Given the description of an element on the screen output the (x, y) to click on. 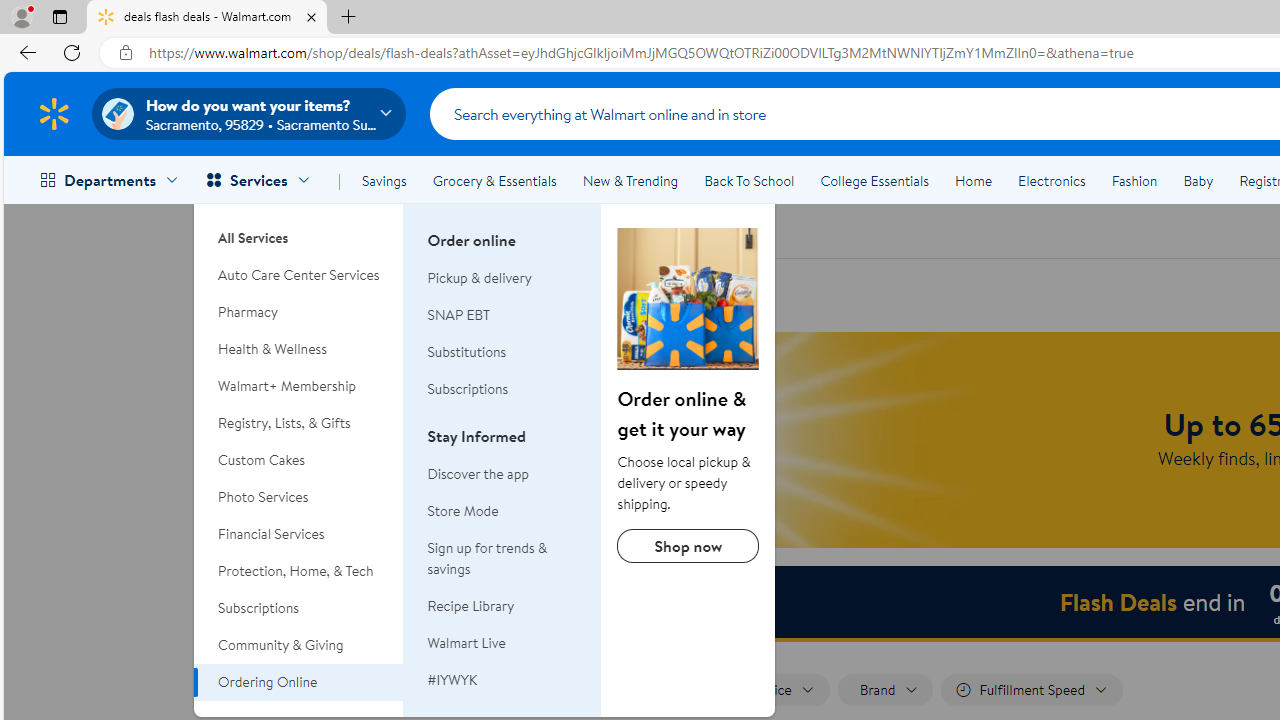
College Essentials (874, 180)
Pickup & delivery (479, 277)
Subscriptions (299, 608)
#IYWYK (452, 679)
Ordering Online (299, 682)
#IYWYK (502, 680)
All Services (299, 230)
Baby (1197, 180)
Savings (384, 180)
Substitutions (502, 352)
Ordering Online (688, 299)
Flash deals (516, 230)
